Given the description of an element on the screen output the (x, y) to click on. 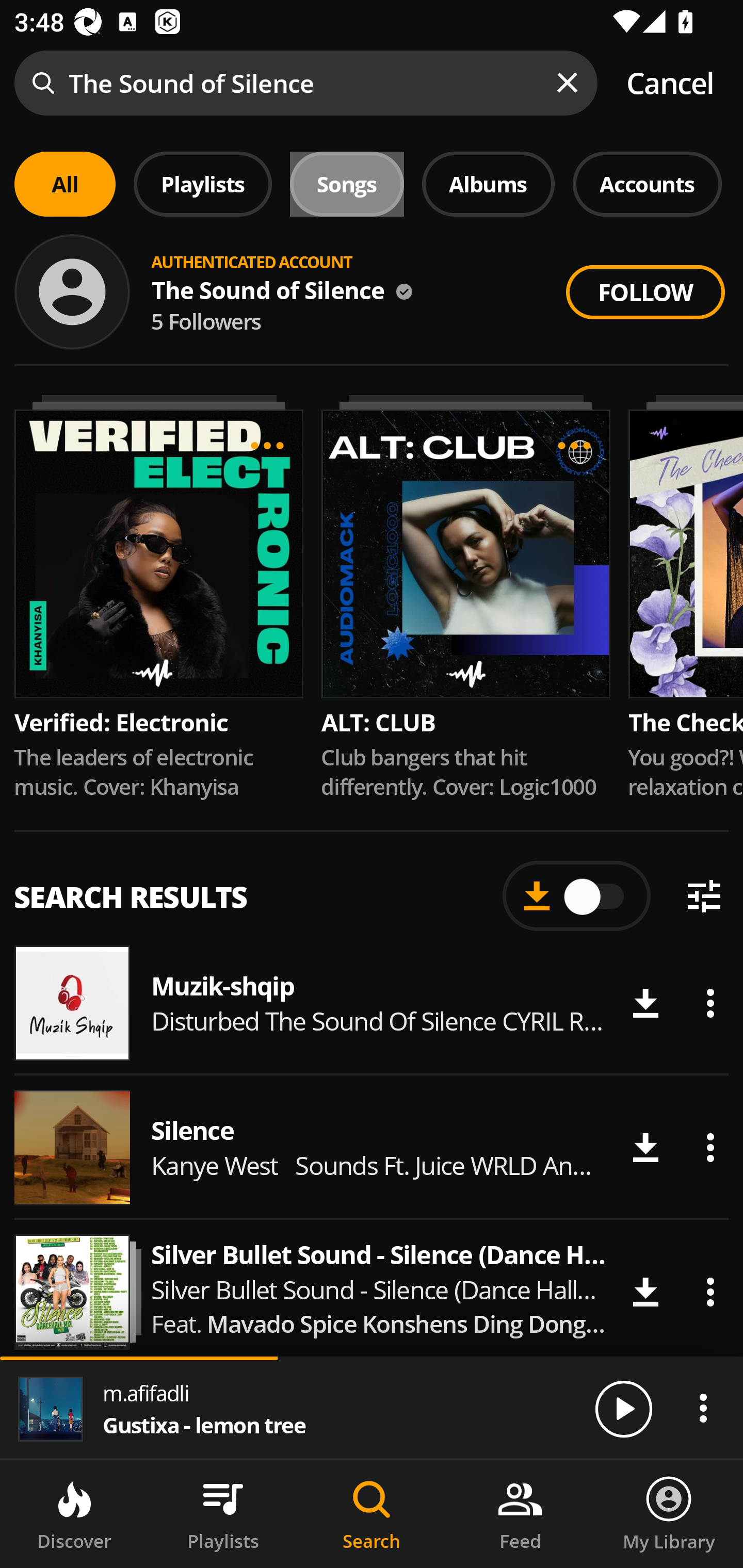
The Sound of Silence Cancel (371, 82)
Cancel (670, 82)
All (64, 184)
Playlists (202, 184)
Songs (346, 184)
Albums (488, 184)
Accounts (647, 184)
FOLLOW Follow/Unfollow (645, 291)
Download (644, 1003)
Actions (710, 1003)
Download (644, 1147)
Actions (710, 1147)
Download (644, 1291)
Actions (710, 1291)
Actions (703, 1407)
Play/Pause (623, 1408)
Discover (74, 1513)
Playlists (222, 1513)
Search (371, 1513)
Feed (519, 1513)
My Library (668, 1513)
